Given the description of an element on the screen output the (x, y) to click on. 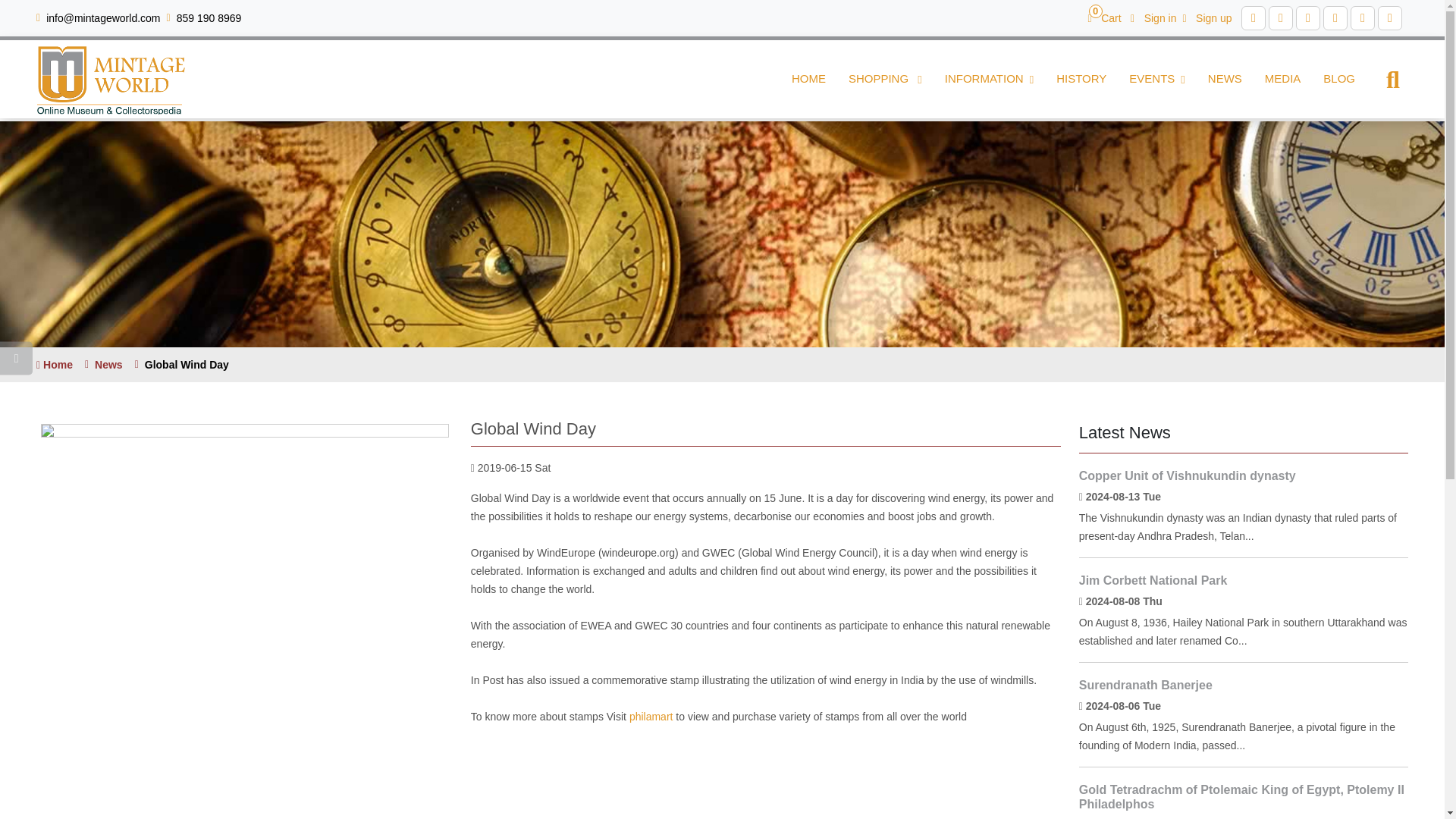
INFORMATION (988, 78)
859 190 8969 (208, 18)
Sign in (1153, 18)
SHOPPING (884, 78)
Sign up (1206, 18)
Sign up (1206, 18)
Cart (1104, 18)
Sign in (1104, 18)
